Given the description of an element on the screen output the (x, y) to click on. 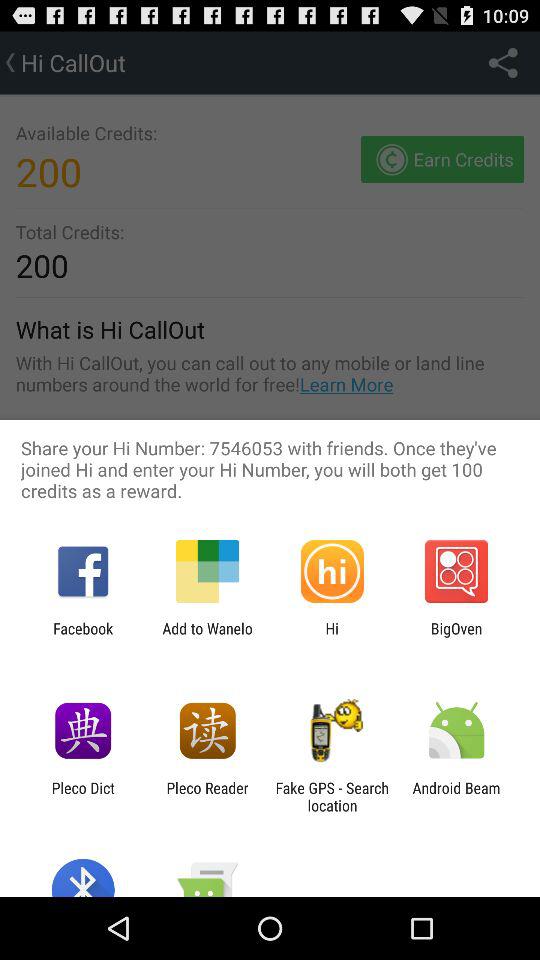
launch the app next to the pleco dict app (207, 796)
